Given the description of an element on the screen output the (x, y) to click on. 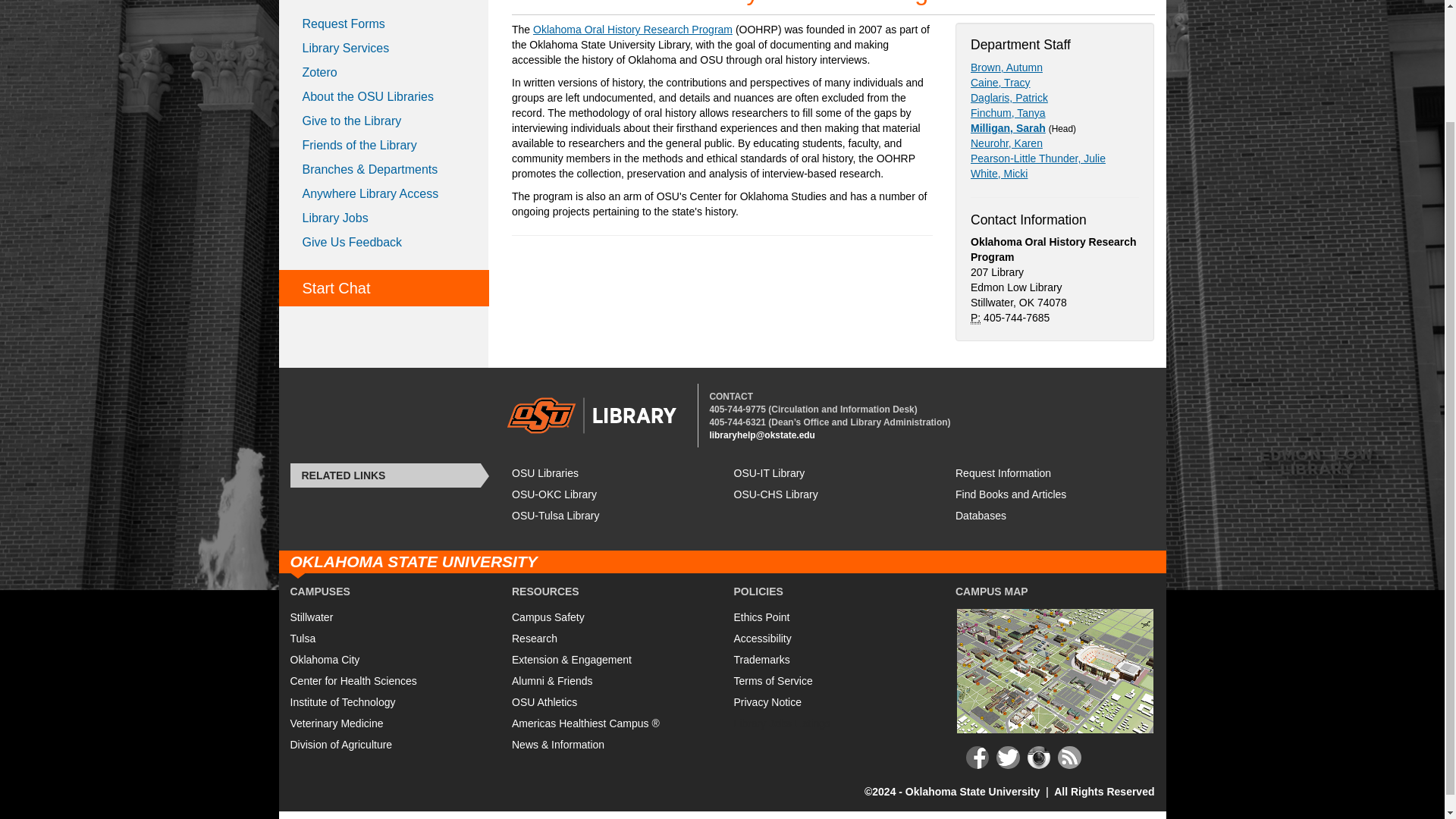
Anywhere Library Access (384, 193)
Call with Google Voice (737, 421)
Zotero (384, 72)
Friends of the Library (384, 145)
Give to  the Library (384, 120)
Give Us Feedback (384, 242)
Call with Google Voice (737, 409)
About the OSU Libraries (384, 96)
Library Jobs (384, 218)
Request Forms (384, 24)
Library Services (384, 48)
